Given the description of an element on the screen output the (x, y) to click on. 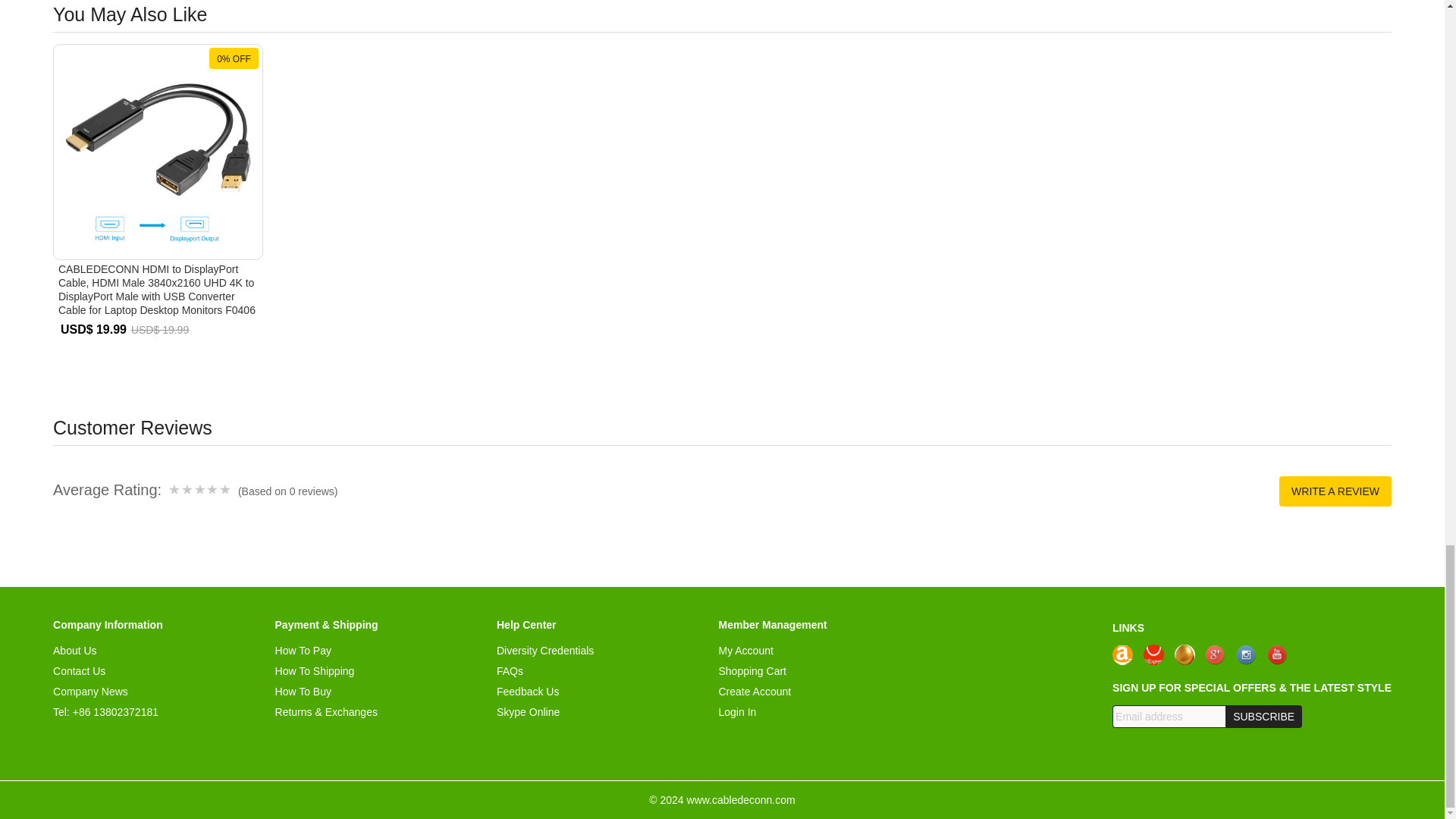
Subscribe (1263, 716)
